Given the description of an element on the screen output the (x, y) to click on. 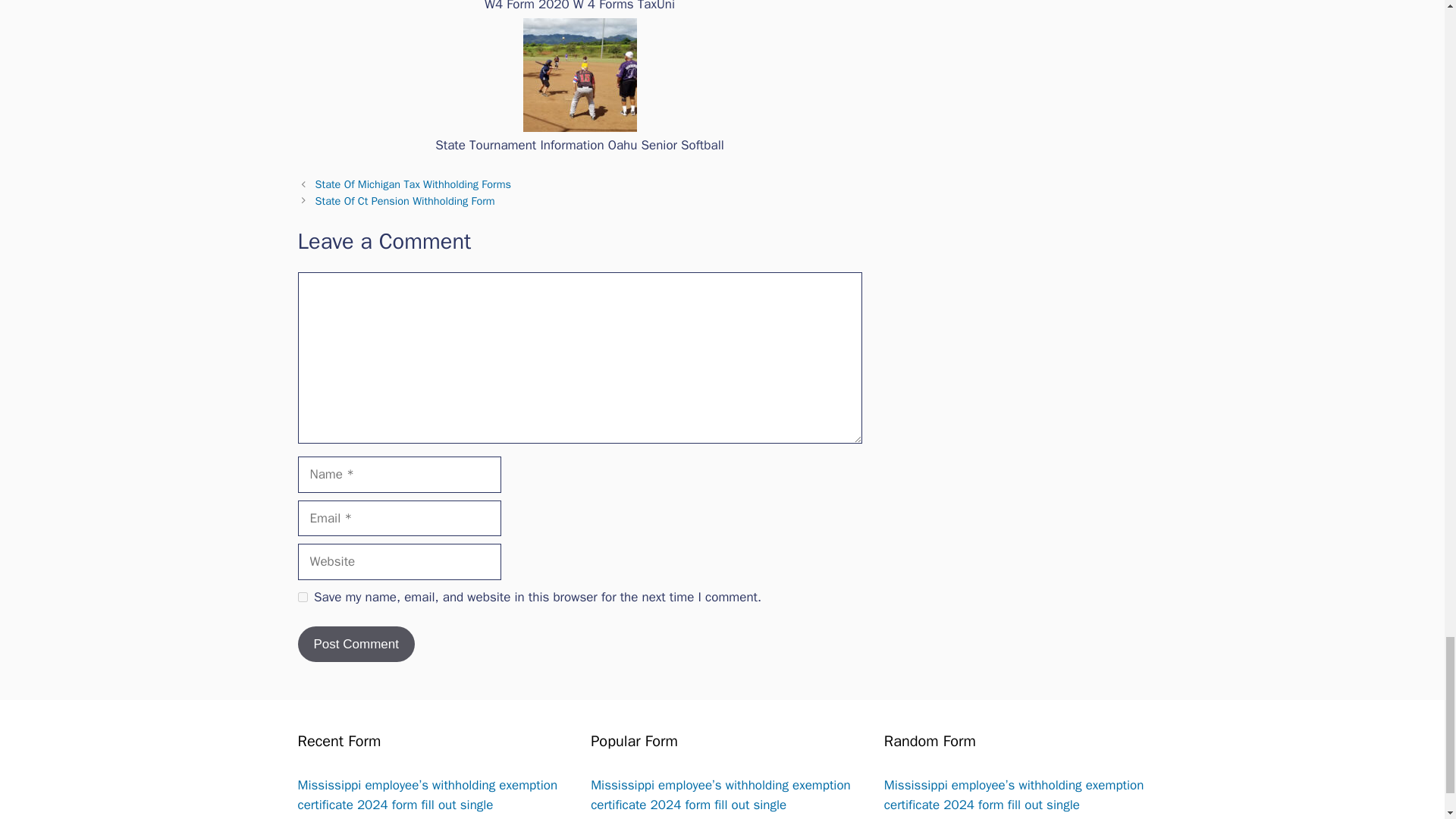
State Of Michigan Tax Withholding Forms (413, 183)
yes (302, 596)
State Of Ct Pension Withholding Form (405, 201)
Post Comment (355, 644)
Post Comment (355, 644)
